Given the description of an element on the screen output the (x, y) to click on. 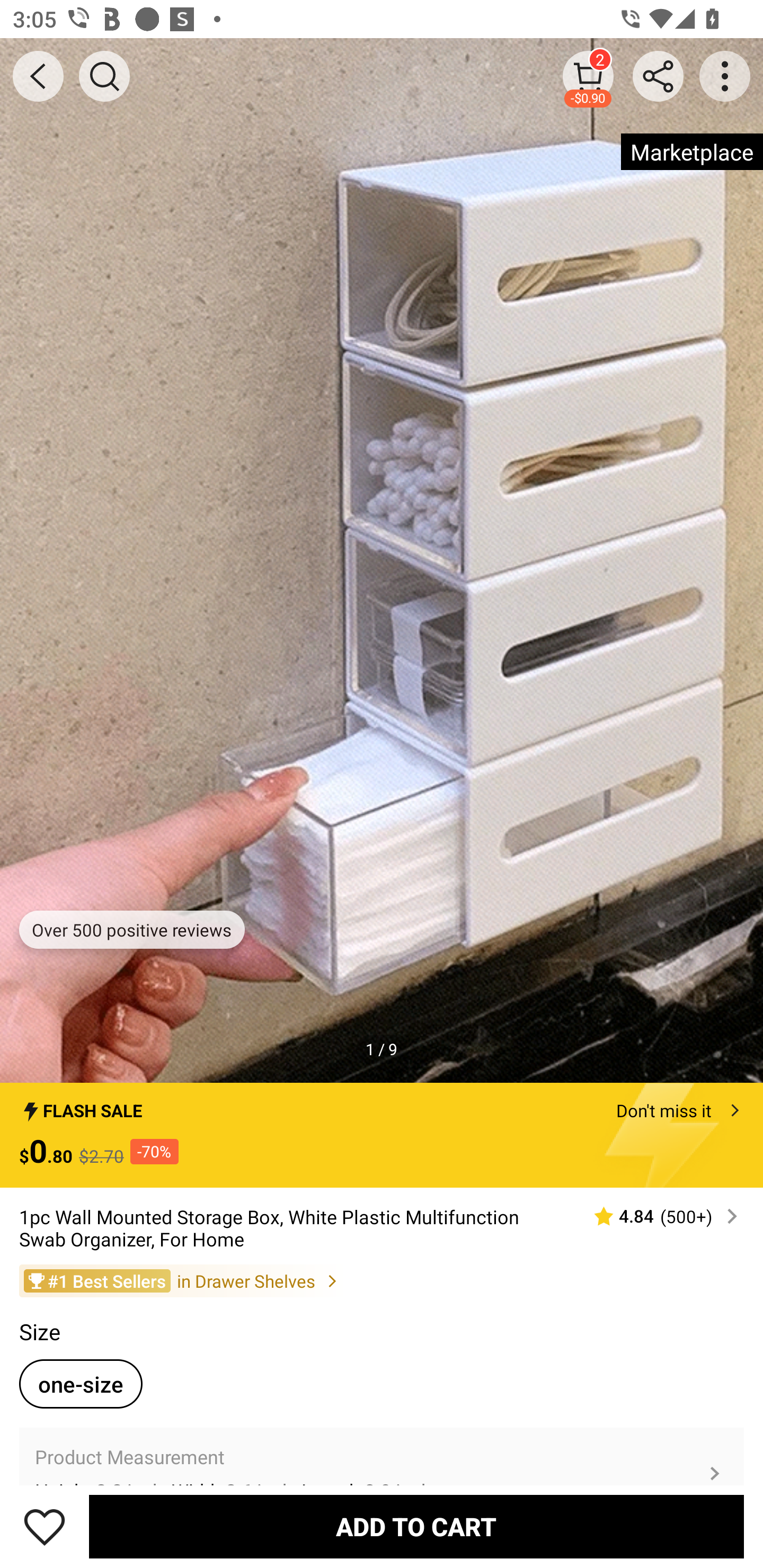
BACK (38, 75)
2 -$0.90 (588, 75)
1 / 9 (381, 1048)
FLASH SALE Don't miss it $0.80 $2.70 -70% (381, 1134)
FLASH SALE Don't miss it (381, 1105)
4.84 (500‎+) (658, 1216)
#1 Best Sellers in Drawer Shelves (381, 1279)
Size (39, 1331)
one-size one-sizeselected option (80, 1383)
ADD TO CART (416, 1526)
Save (44, 1526)
